Given the description of an element on the screen output the (x, y) to click on. 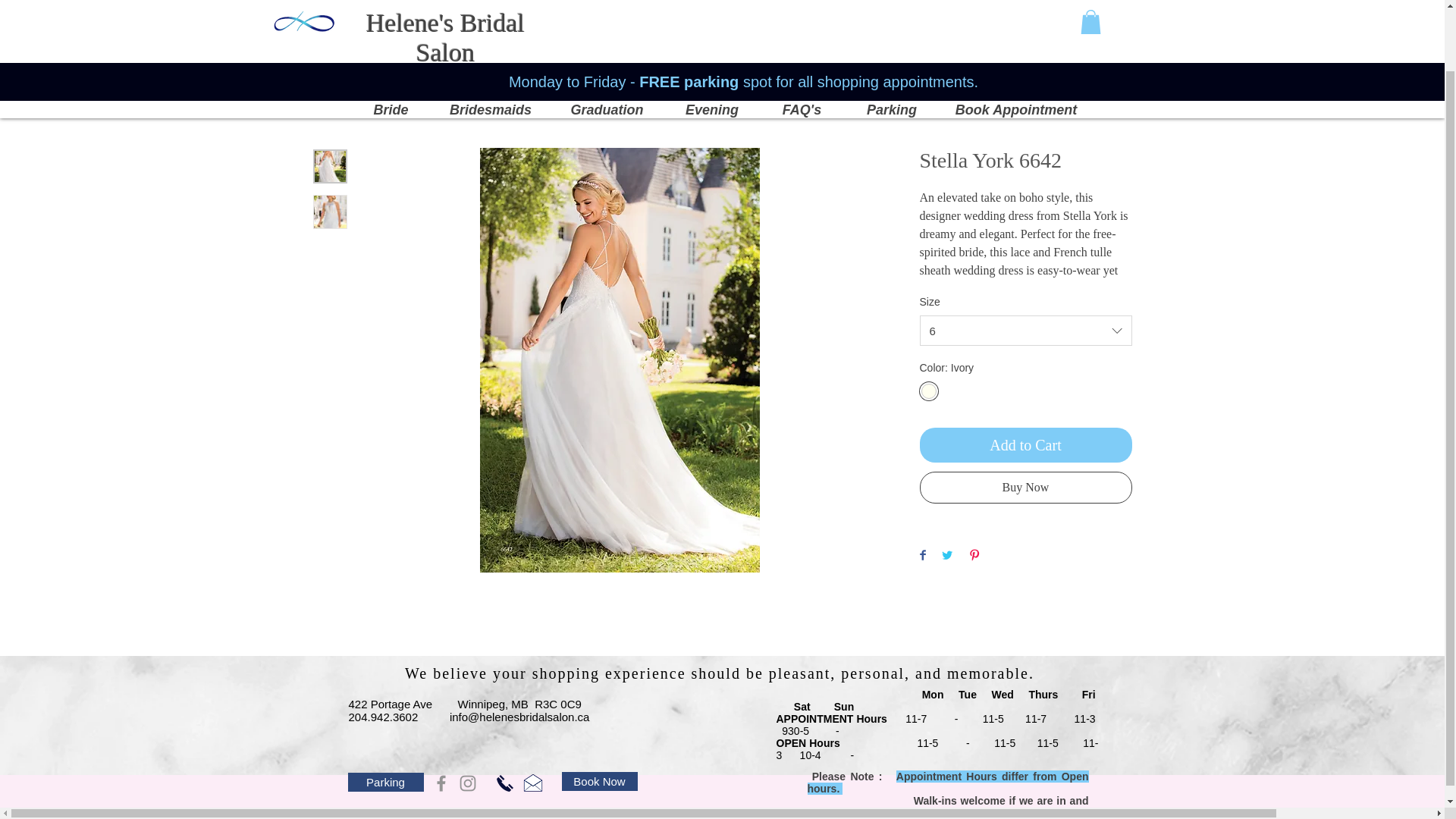
Book Appointment (1015, 42)
6 (1024, 330)
Add to Cart (1024, 444)
Buy Now (1024, 487)
Parking (891, 42)
Evening (711, 42)
FAQ's (802, 42)
Book Now (598, 781)
Parking (385, 782)
